Given the description of an element on the screen output the (x, y) to click on. 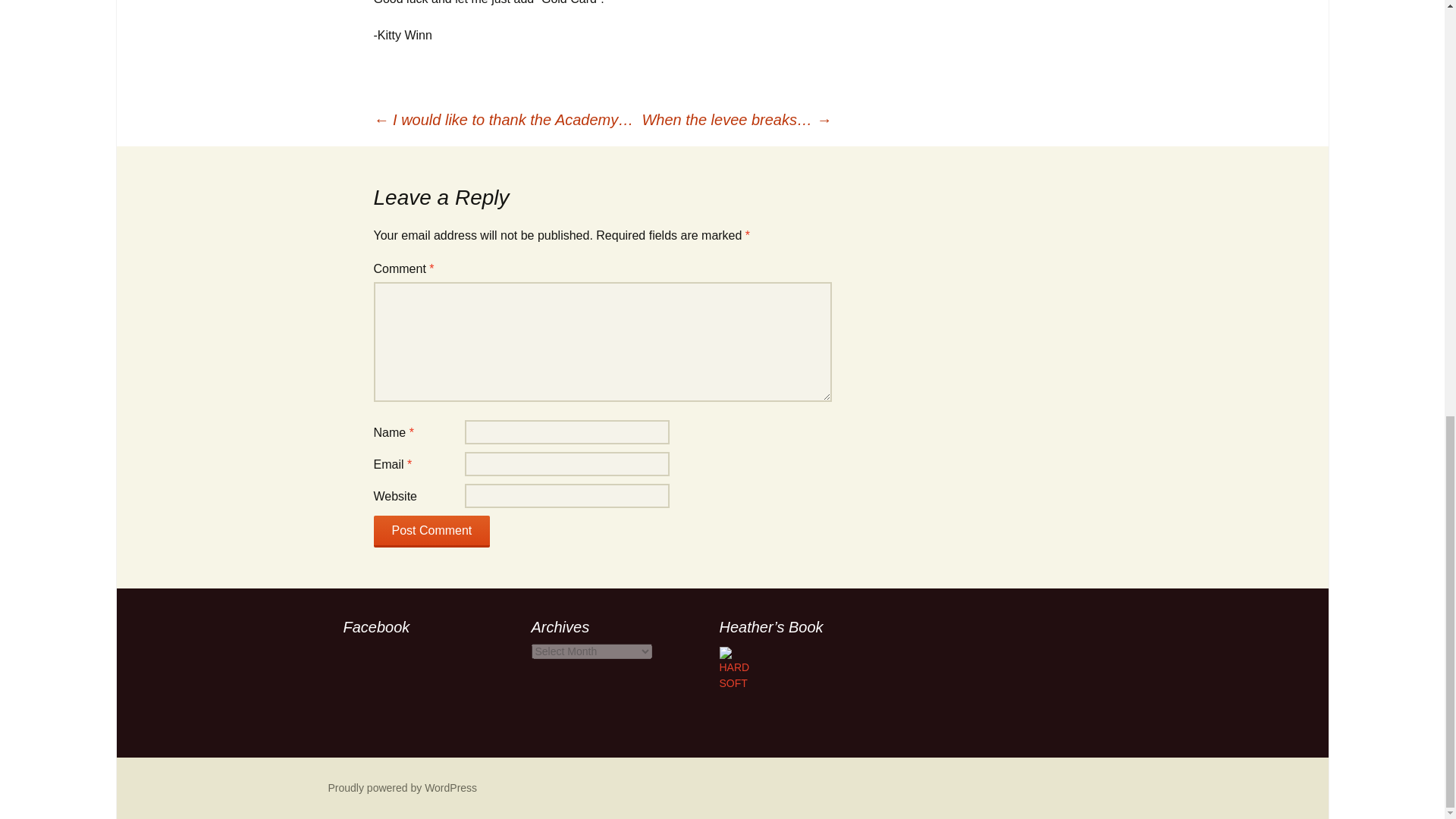
Post Comment (430, 531)
Semantic Personal Publishing Platform (402, 787)
Post Comment (430, 531)
